Given the description of an element on the screen output the (x, y) to click on. 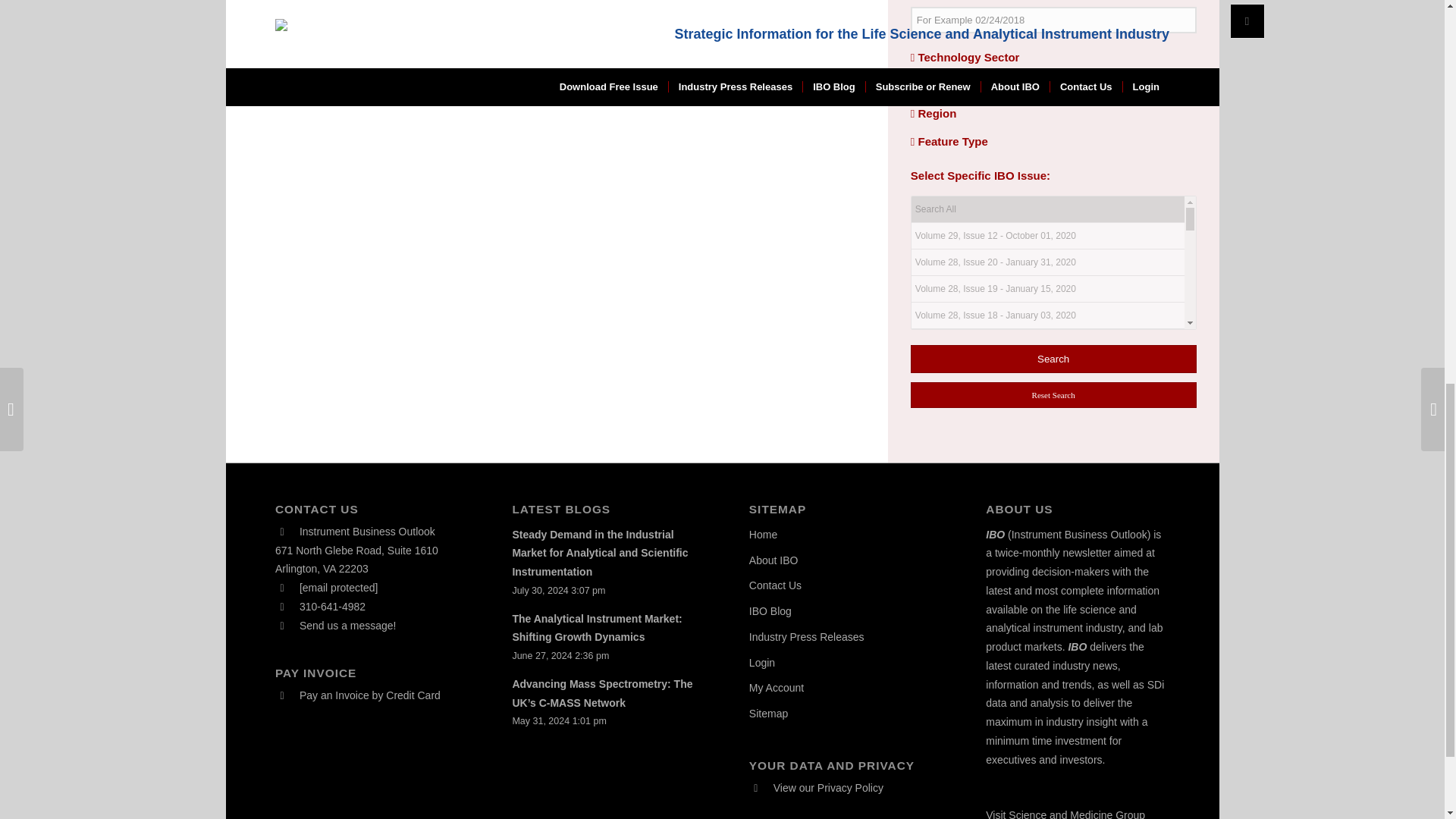
Region (933, 113)
The Analytical Instrument Market: Shifting Growth Dynamics (596, 627)
Feature Type (949, 141)
